Given the description of an element on the screen output the (x, y) to click on. 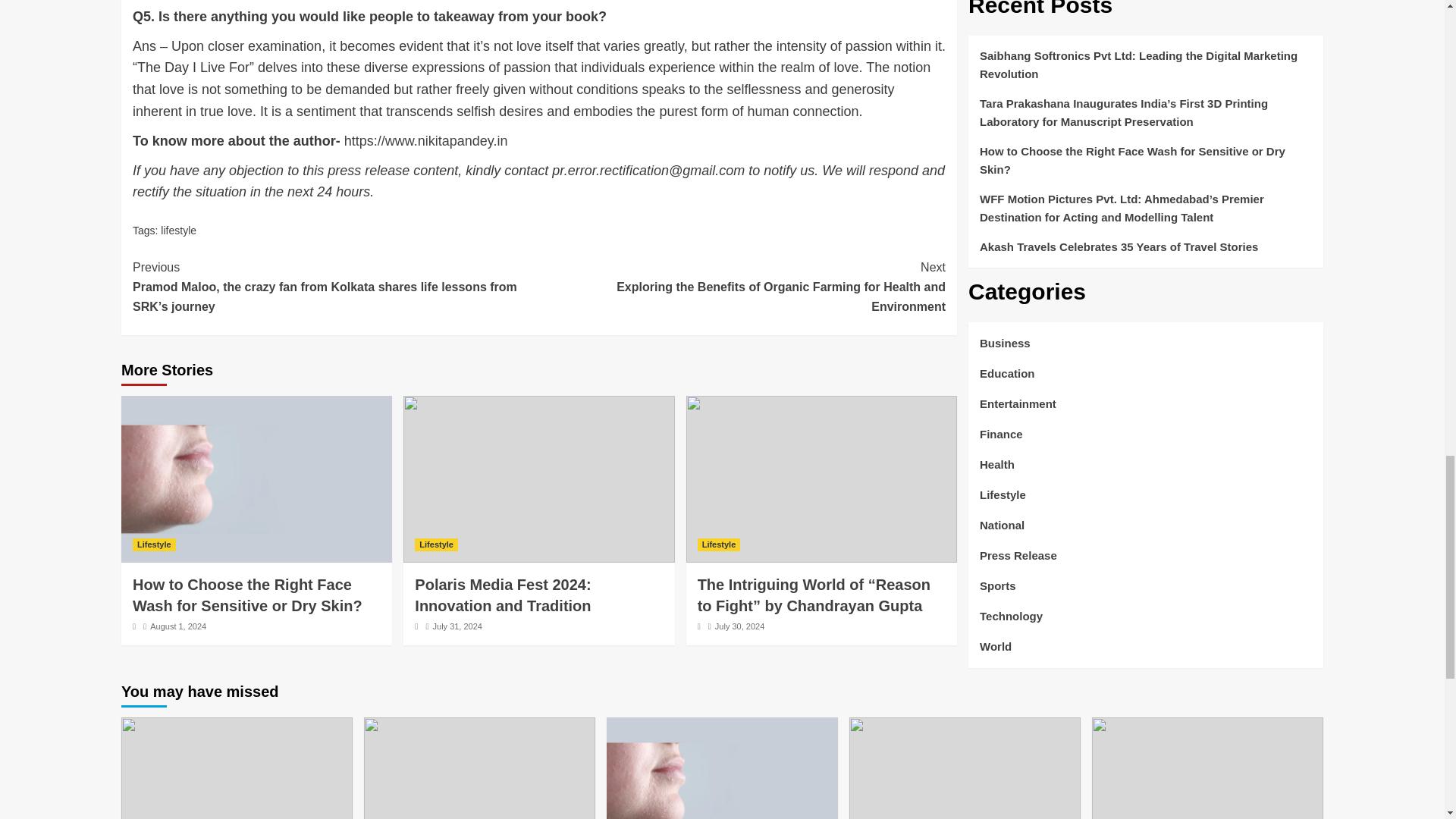
Lifestyle (719, 544)
How to Choose the Right Face Wash for Sensitive or Dry Skin? (247, 595)
lifestyle (178, 230)
July 30, 2024 (739, 625)
August 1, 2024 (177, 625)
Lifestyle (436, 544)
Polaris Media Fest 2024: Innovation and Tradition (502, 595)
July 31, 2024 (456, 625)
Lifestyle (154, 544)
